Given the description of an element on the screen output the (x, y) to click on. 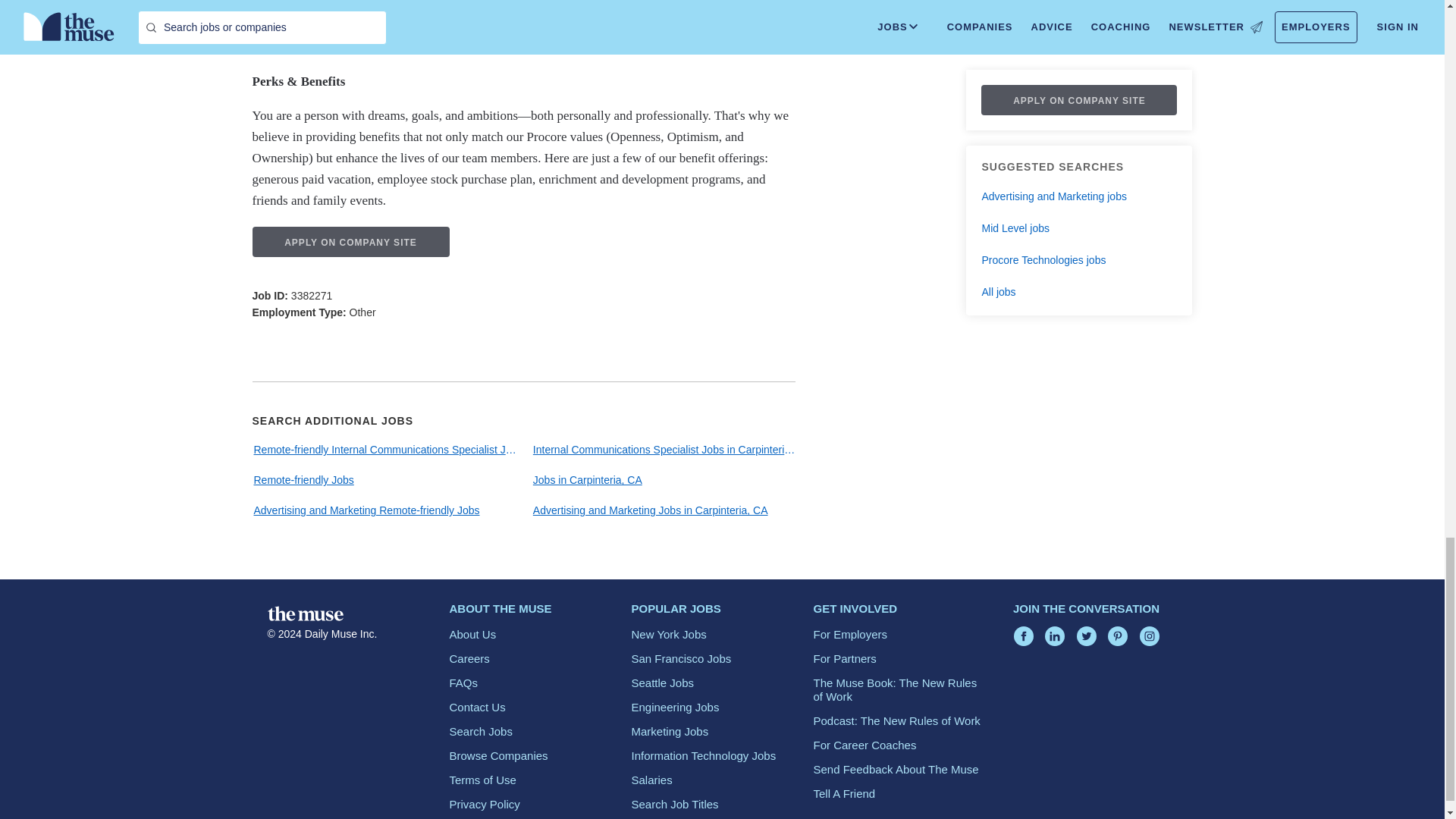
The Muse LogoA logo with "the muse" in white text. (304, 612)
